Given the description of an element on the screen output the (x, y) to click on. 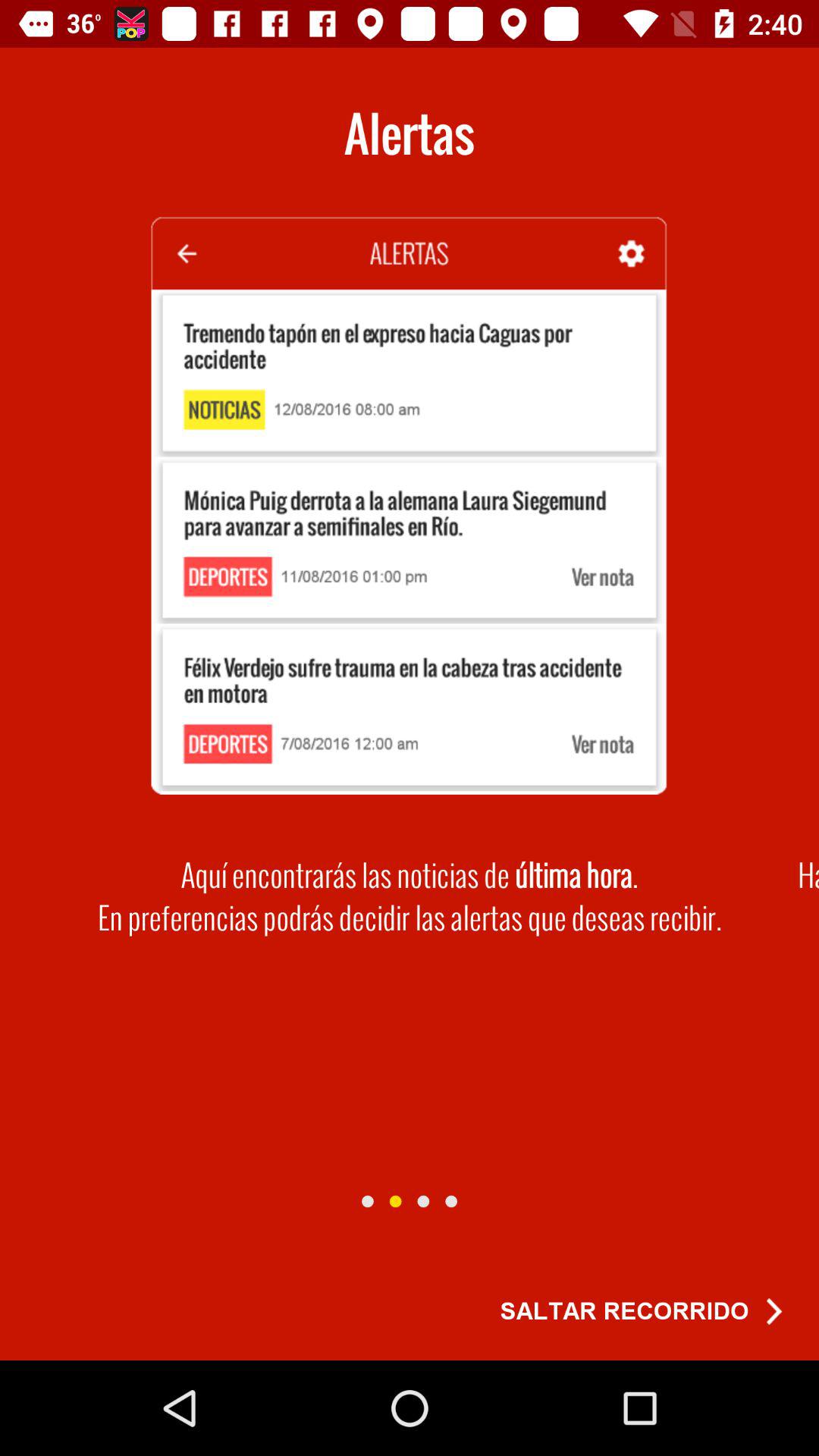
view this slide (367, 1201)
